Given the description of an element on the screen output the (x, y) to click on. 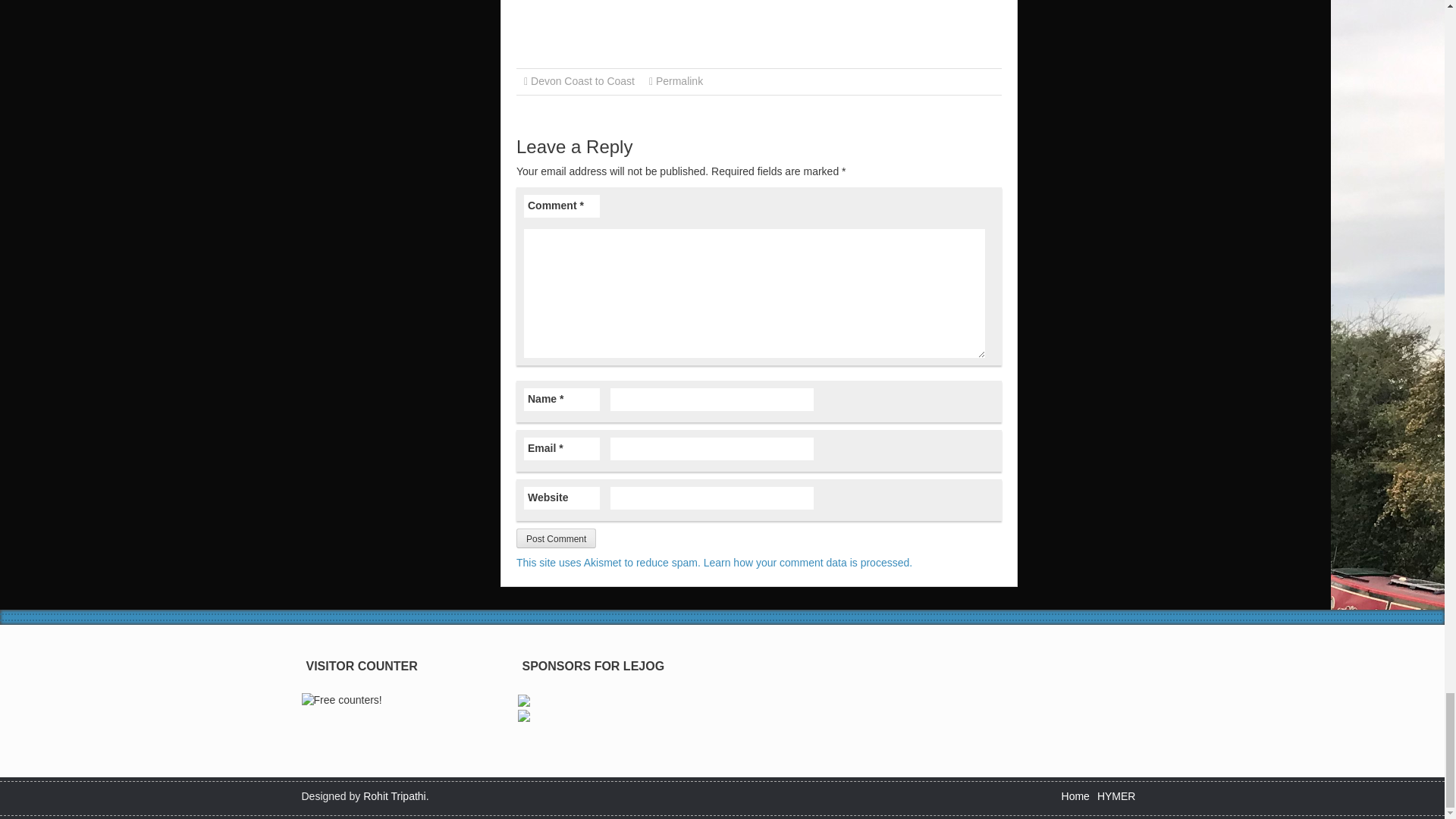
Learn how your comment data is processed (806, 562)
Devon Coast to Coast (582, 80)
GWP Group   Innovators in Protective Packaging (522, 715)
The Doctors Laboratory (522, 699)
Permalink (679, 80)
Post Comment (555, 537)
Post Comment (555, 537)
